Given the description of an element on the screen output the (x, y) to click on. 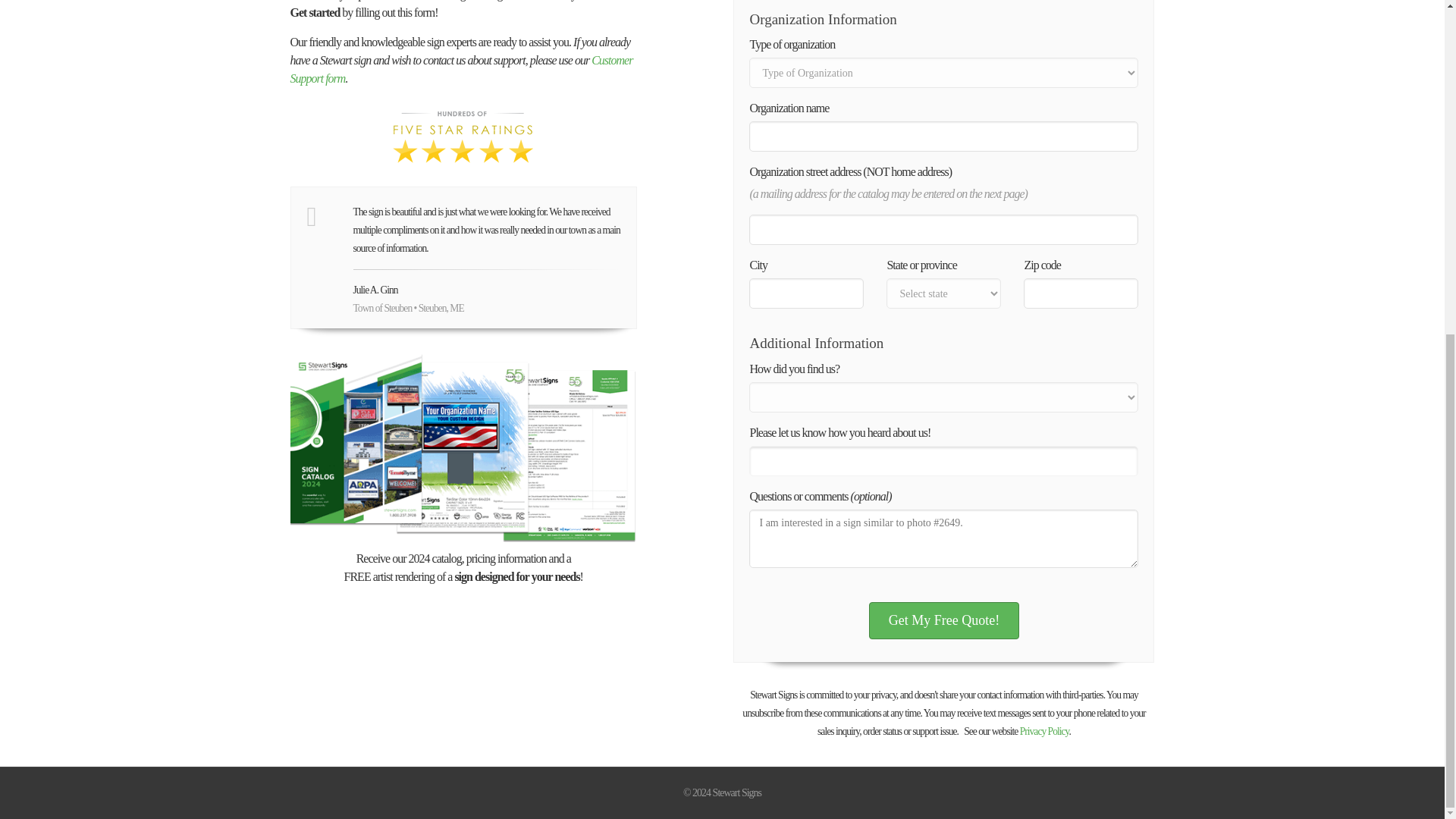
Customer Support form (460, 69)
Get My Free Quote! (944, 620)
